Given the description of an element on the screen output the (x, y) to click on. 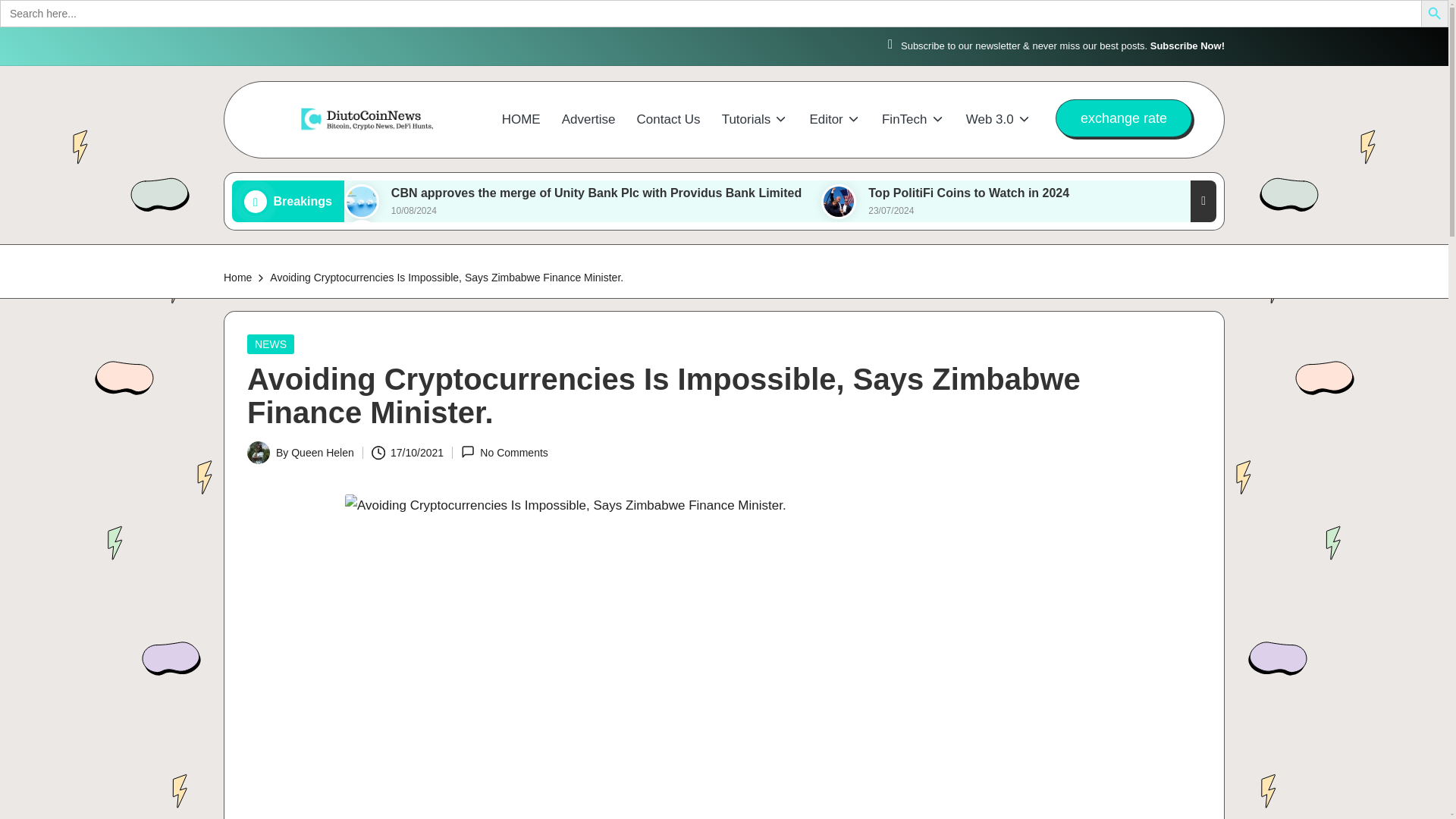
Advertise (588, 119)
Contact Us (668, 119)
Subscribe Now! (1187, 46)
Tutorials (755, 119)
View all posts by Queen Helen (322, 452)
HOME (521, 119)
